Given the description of an element on the screen output the (x, y) to click on. 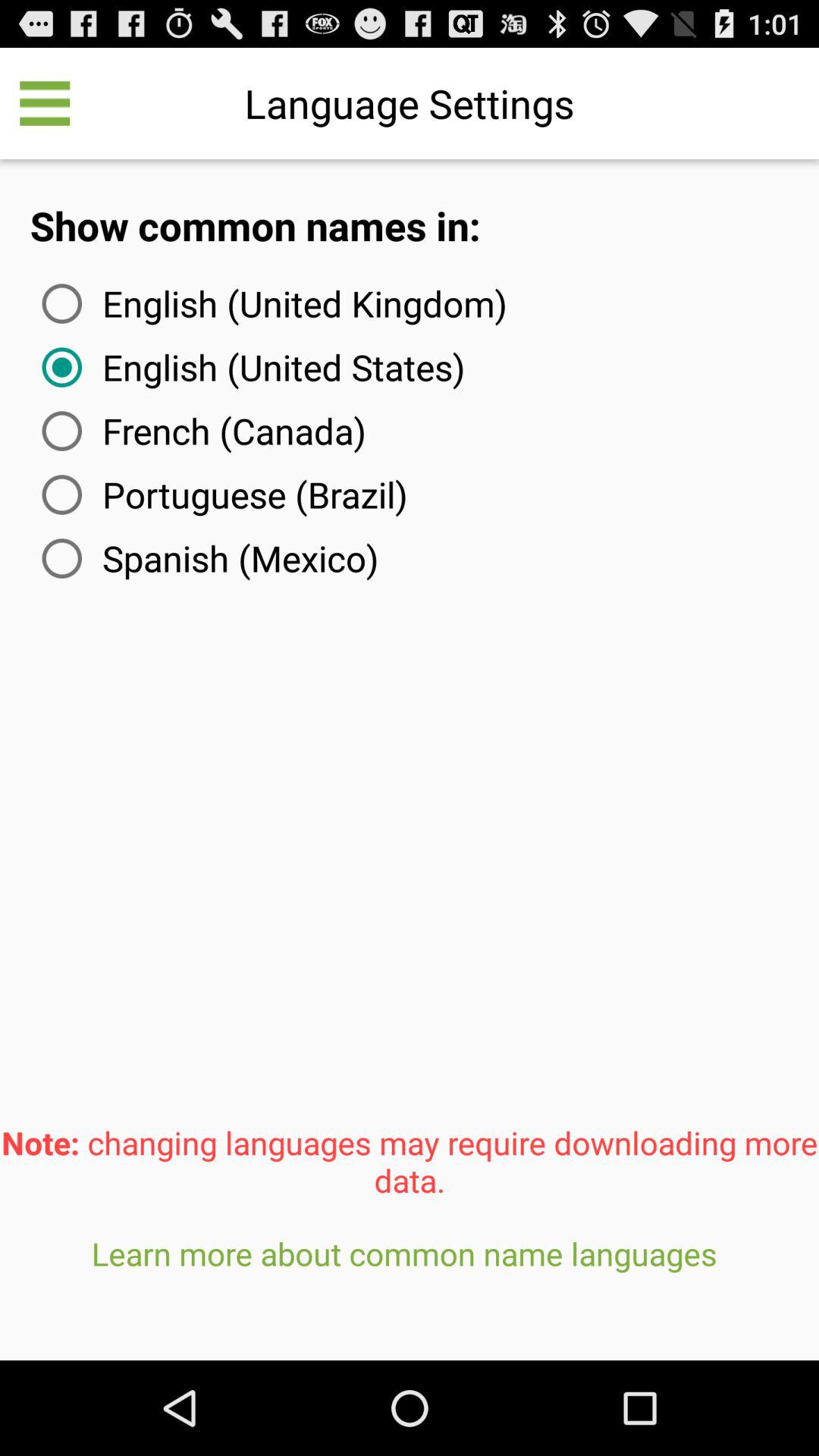
scroll to the learn more about icon (409, 1290)
